Given the description of an element on the screen output the (x, y) to click on. 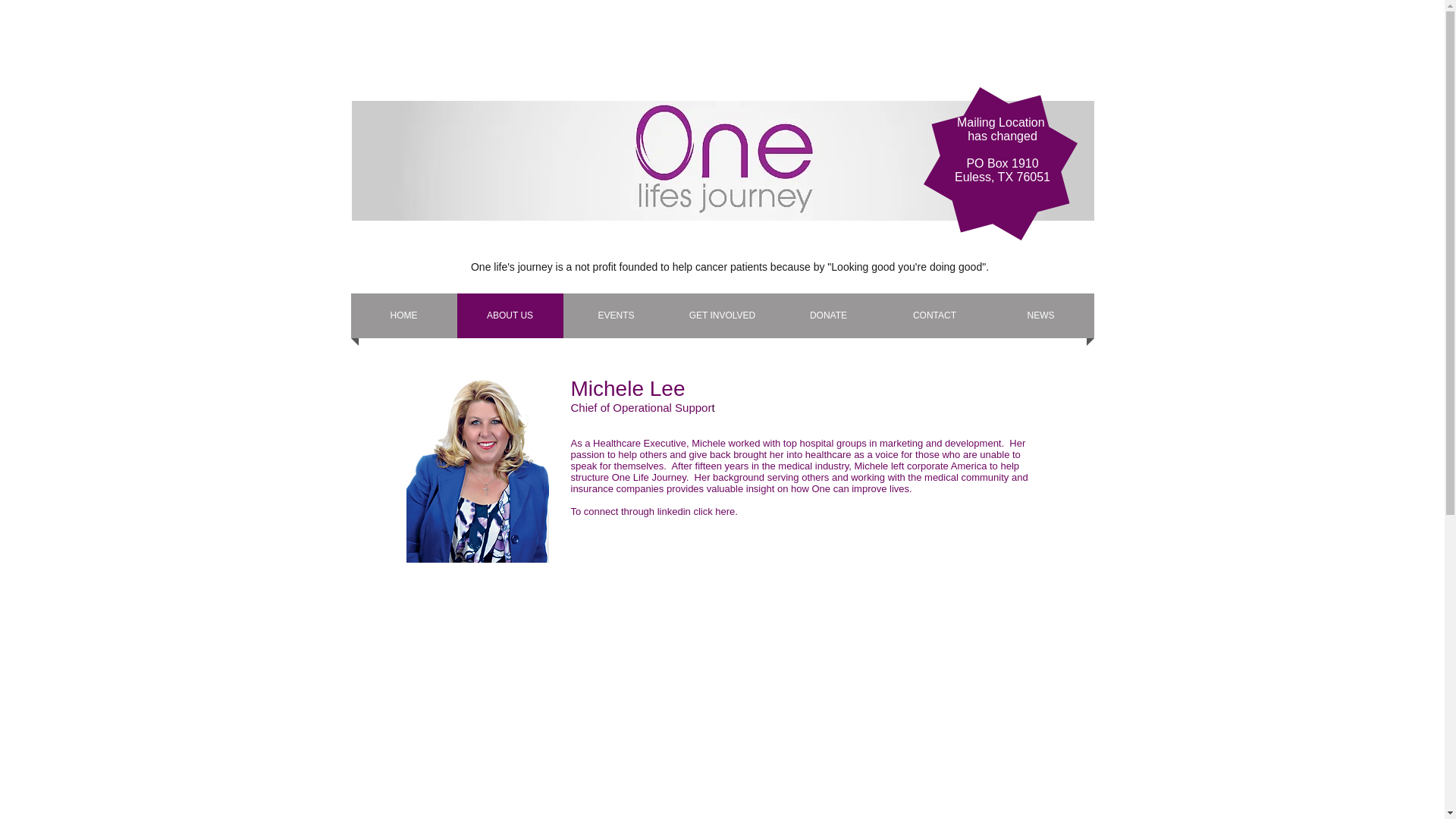
CONTACT (933, 315)
NEWS (1040, 315)
HOME (403, 315)
GET INVOLVED (721, 315)
ABOUT US (509, 315)
DONATE (827, 315)
EVENTS (615, 315)
